Given the description of an element on the screen output the (x, y) to click on. 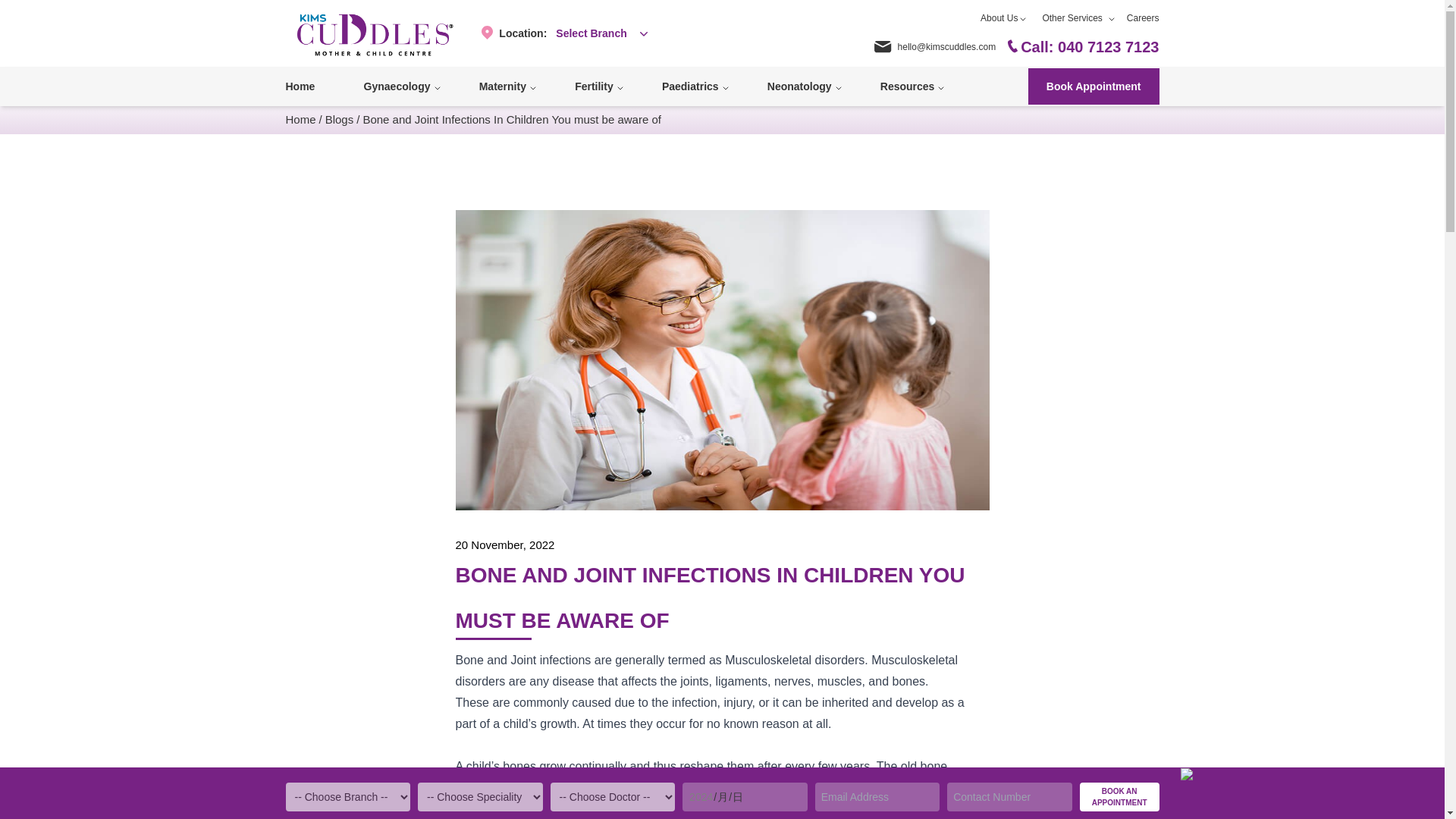
Call: 040 7123 7123 (1082, 46)
Careers (1142, 18)
Other Services (1072, 18)
Select Branch (601, 32)
Gynaecology (398, 85)
Fertility (596, 85)
Home (301, 85)
About Us (998, 18)
Maternity (504, 85)
Please enter exactly 10 digits (1009, 796)
